Given the description of an element on the screen output the (x, y) to click on. 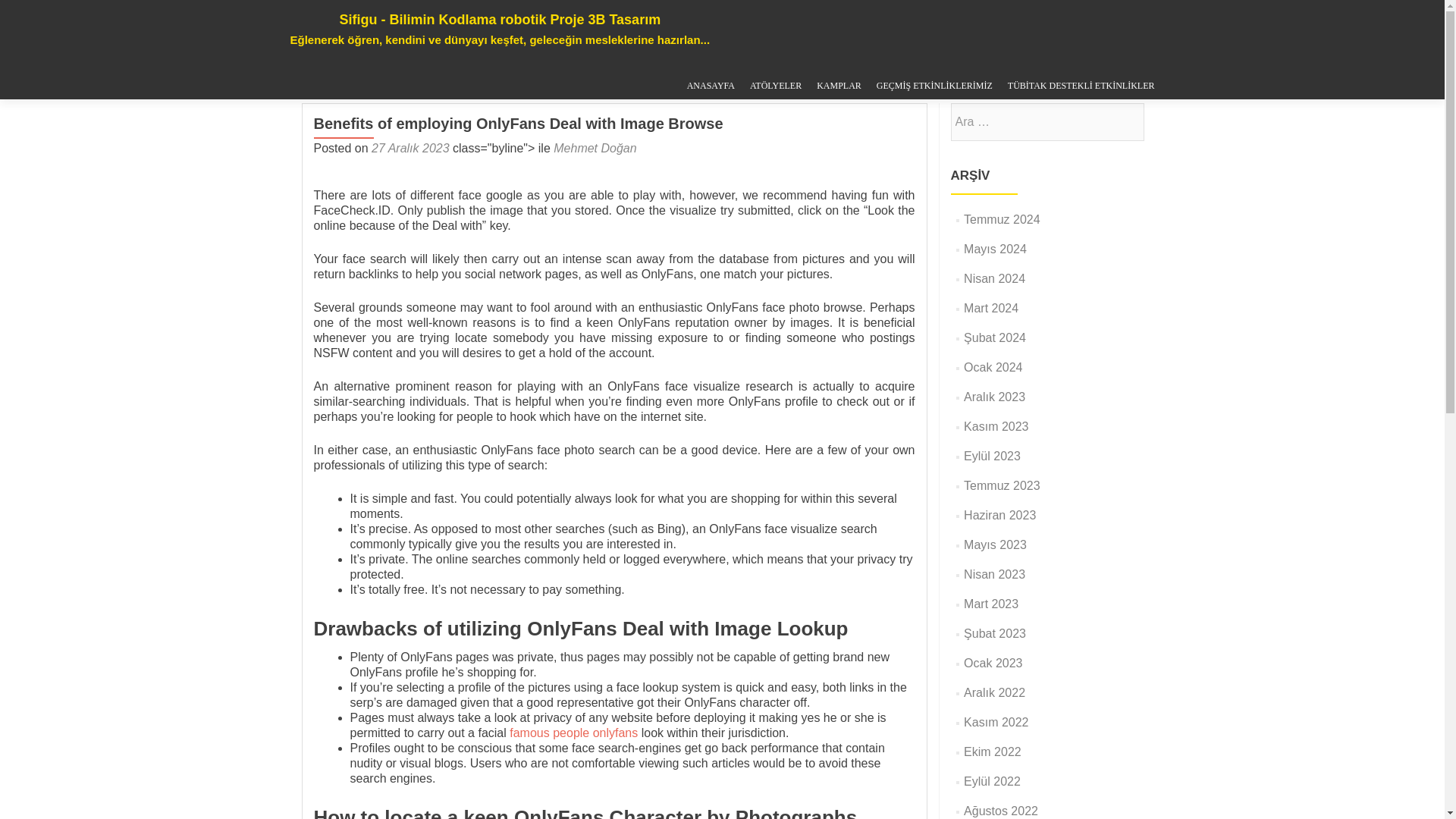
Nisan 2024 (994, 278)
KAMPLAR (838, 85)
famous people onlyfans (573, 732)
Ara (1125, 120)
Ara (1125, 120)
ANASAYFA (711, 85)
Temmuz 2023 (1002, 485)
Ara (1125, 120)
Ocak 2024 (992, 367)
Temmuz 2024 (1002, 219)
Mart 2024 (990, 308)
